Given the description of an element on the screen output the (x, y) to click on. 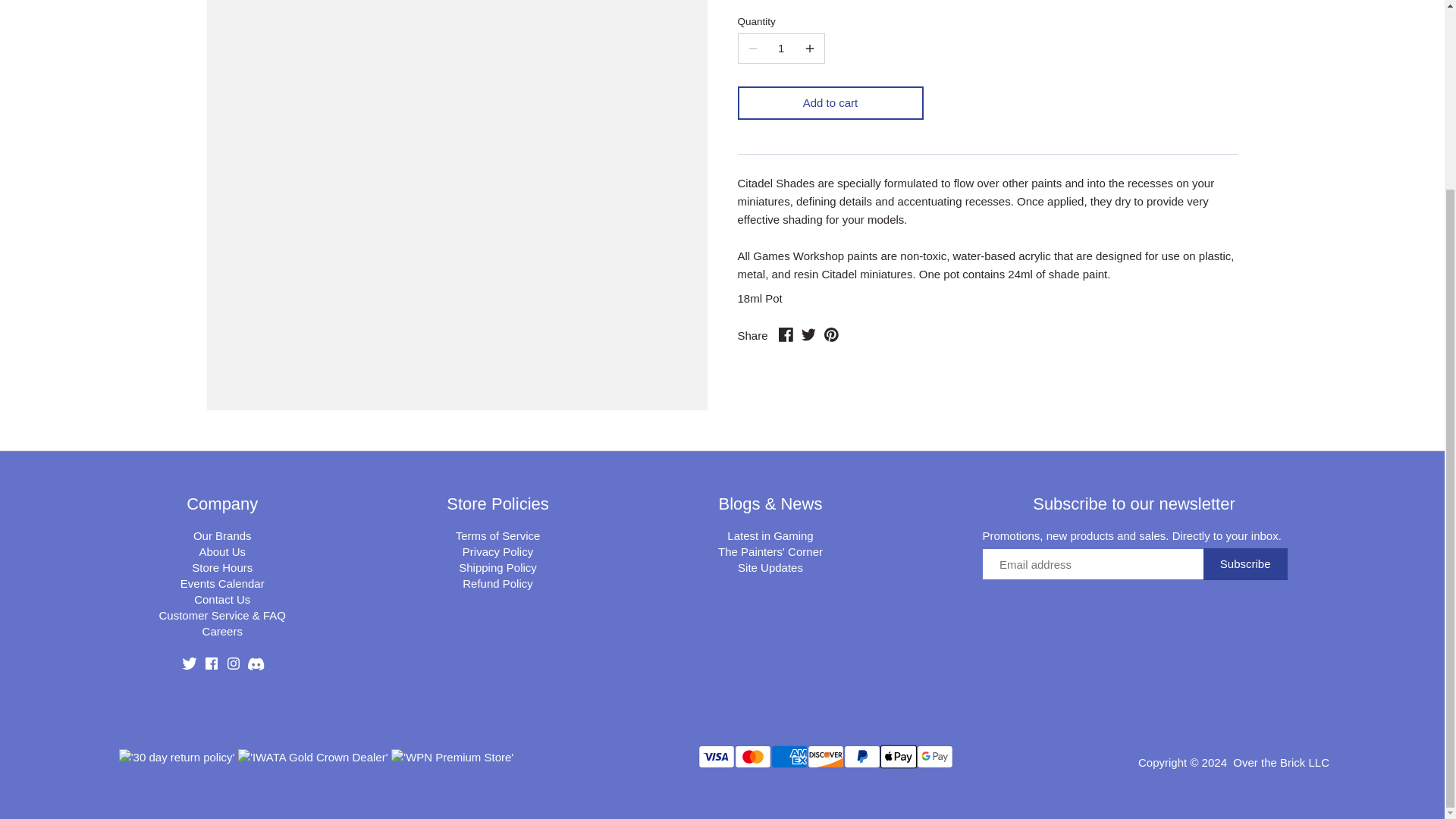
1 (781, 48)
Facebook (785, 334)
Discord (255, 663)
Twitter (189, 663)
Pinterest (831, 334)
Instagram (233, 663)
Subscribe (1245, 563)
Twitter (808, 334)
Facebook (211, 663)
